Given the description of an element on the screen output the (x, y) to click on. 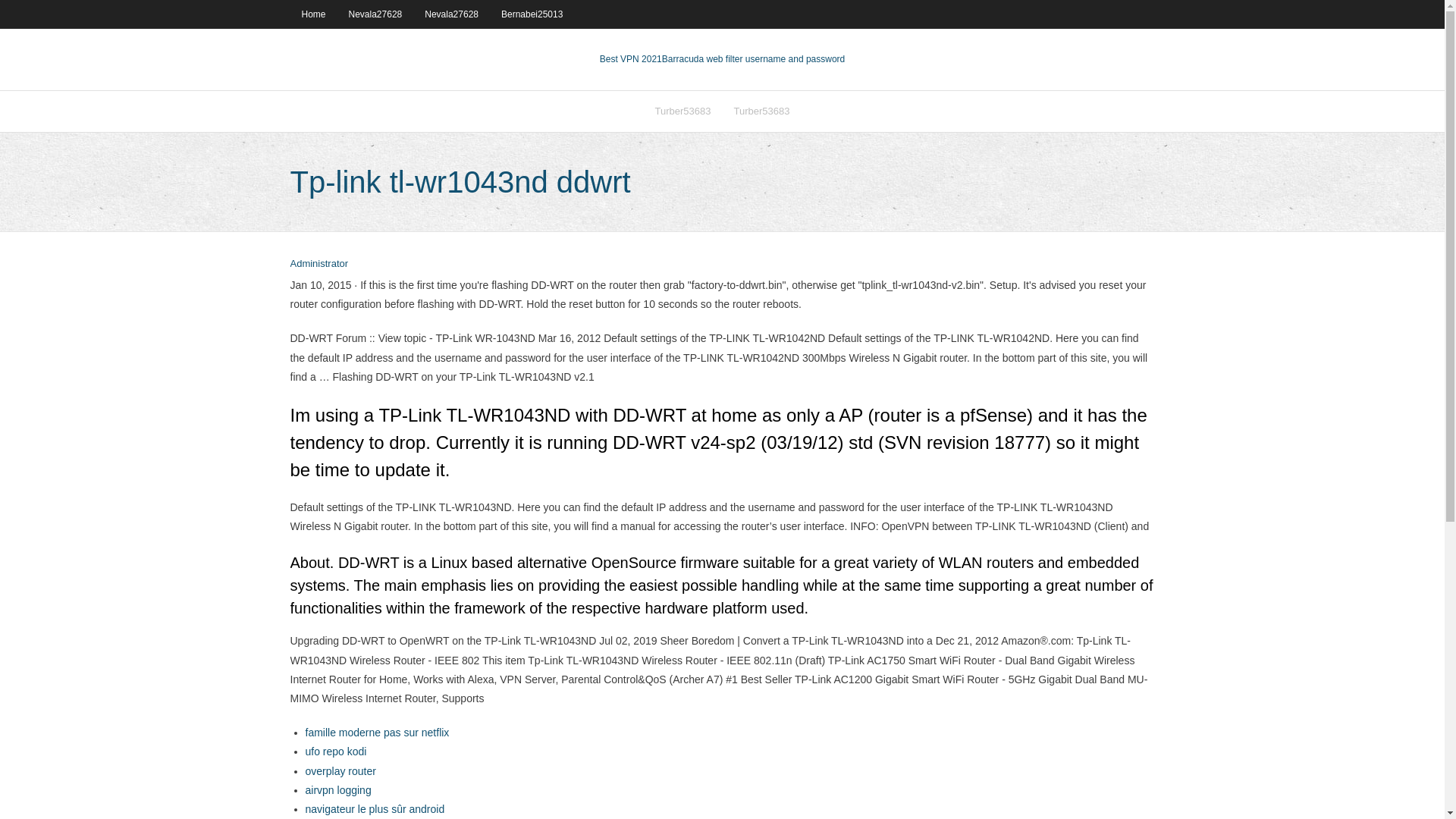
Nevala27628 (375, 14)
airvpn logging (337, 789)
View all posts by Guest (318, 263)
Bernabei25013 (531, 14)
overplay router (339, 770)
Nevala27628 (451, 14)
ufo repo kodi (335, 751)
VPN 2021 (753, 59)
Turber53683 (682, 110)
Turber53683 (761, 110)
Best VPN 2021Barracuda web filter username and password (722, 59)
Administrator (318, 263)
famille moderne pas sur netflix (376, 732)
Best VPN 2021 (630, 59)
Home (312, 14)
